Given the description of an element on the screen output the (x, y) to click on. 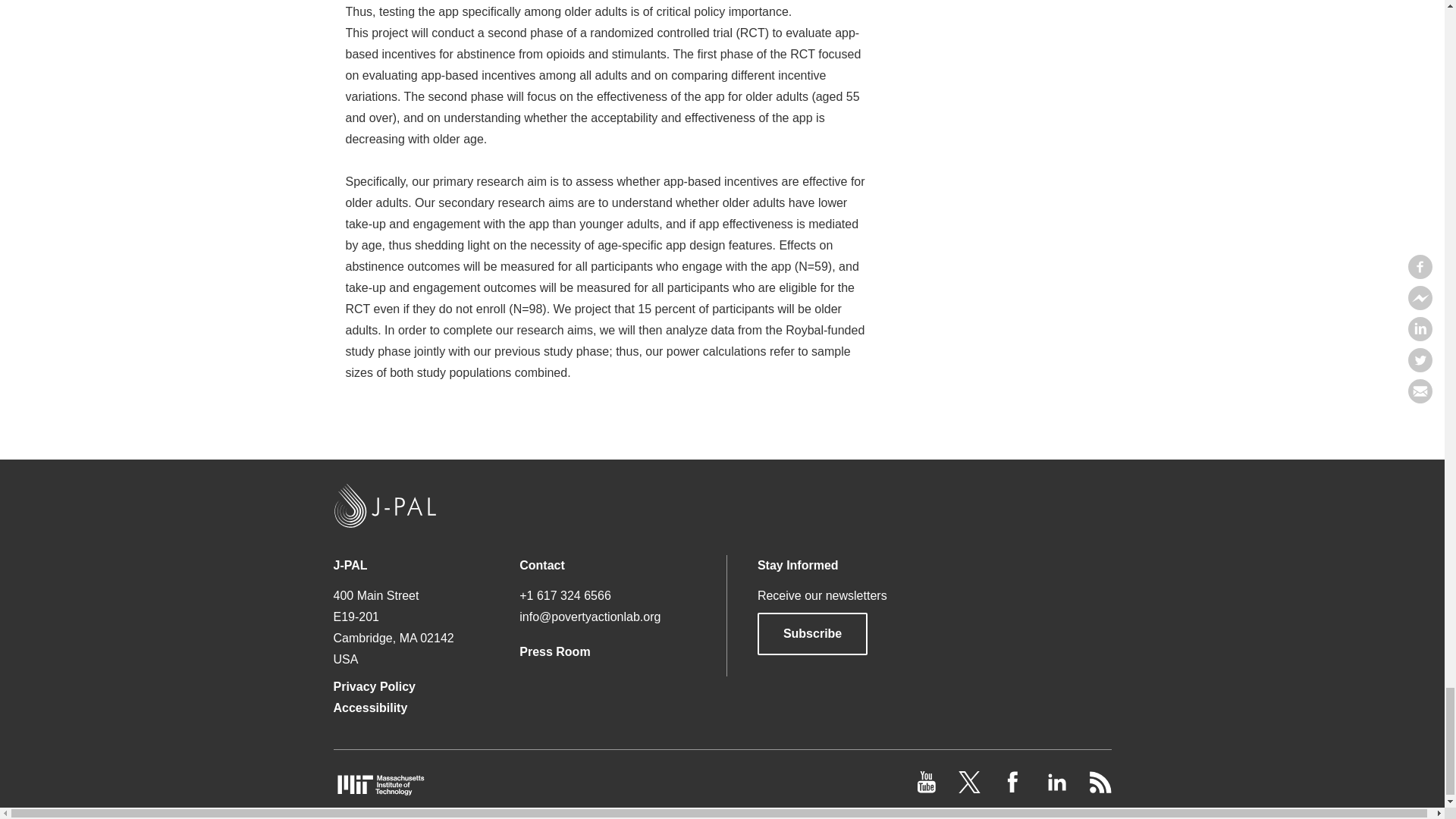
youtube (927, 788)
twitter (971, 788)
rss feed (1099, 788)
LinkedIn (1057, 788)
facebook (1015, 788)
